Given the description of an element on the screen output the (x, y) to click on. 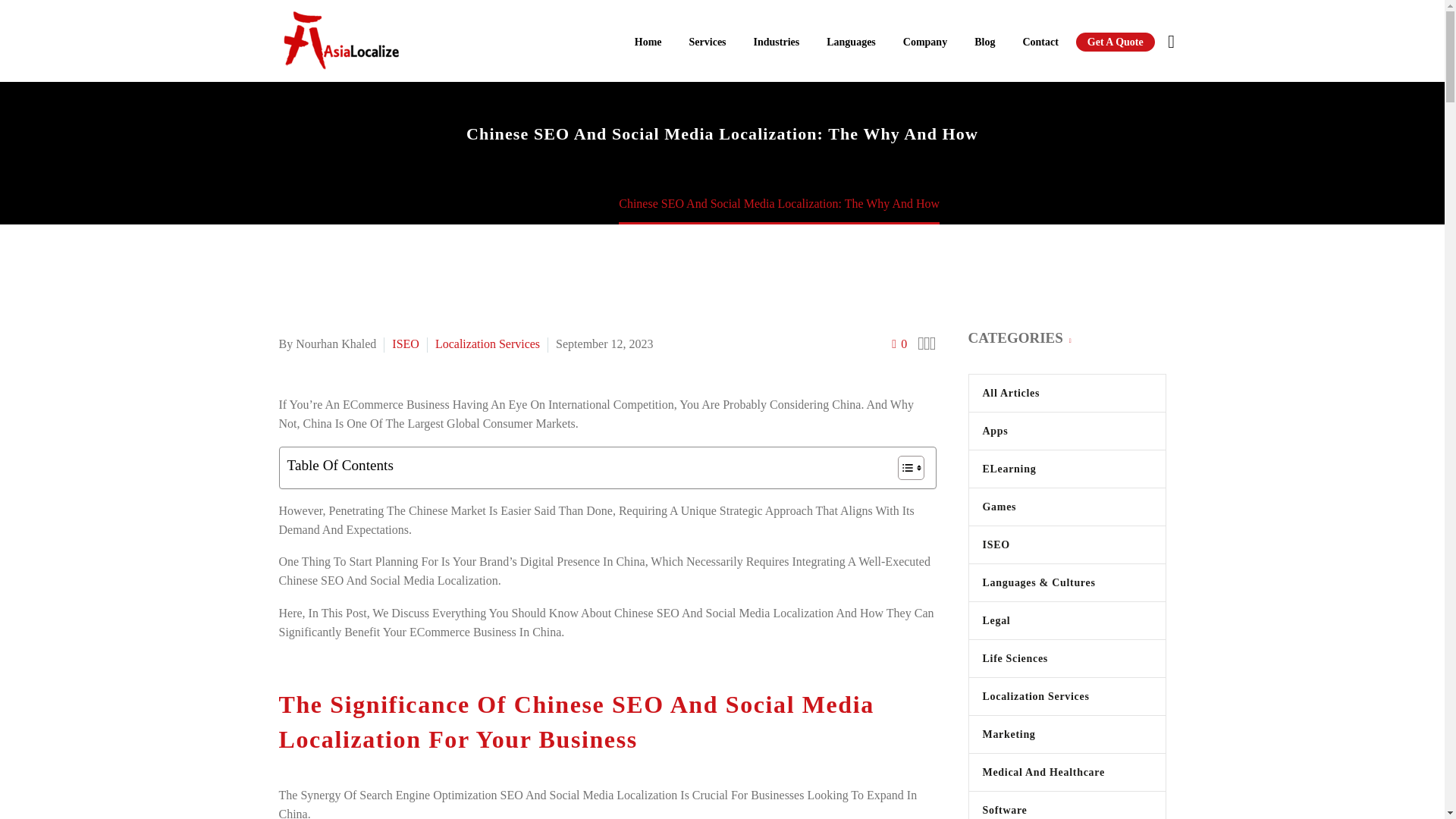
Industries (776, 41)
Services (708, 41)
Home (647, 41)
View all posts in Localization Services (487, 343)
View all posts in ISEO (405, 343)
Industries (776, 41)
Languages (850, 41)
